Given the description of an element on the screen output the (x, y) to click on. 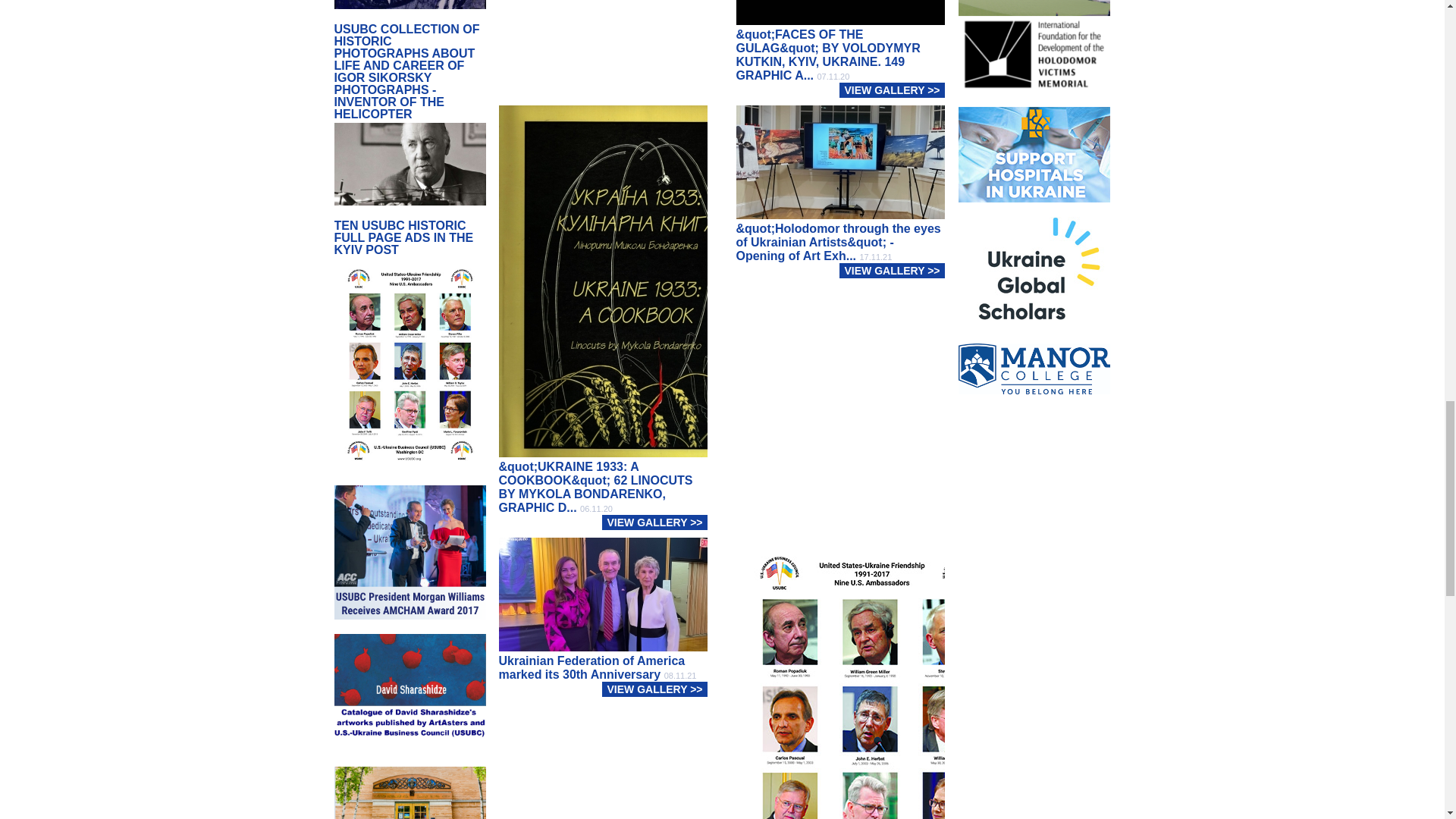
Support Hospitals in Ukraine (1033, 264)
Ukrainian Institute of America in New York (1033, 41)
Morgan Williams received ACC Presidential Award (408, 626)
David Sharashidze Artwork Catalogue (408, 785)
Ukraine Global Scholars (1033, 398)
